Given the description of an element on the screen output the (x, y) to click on. 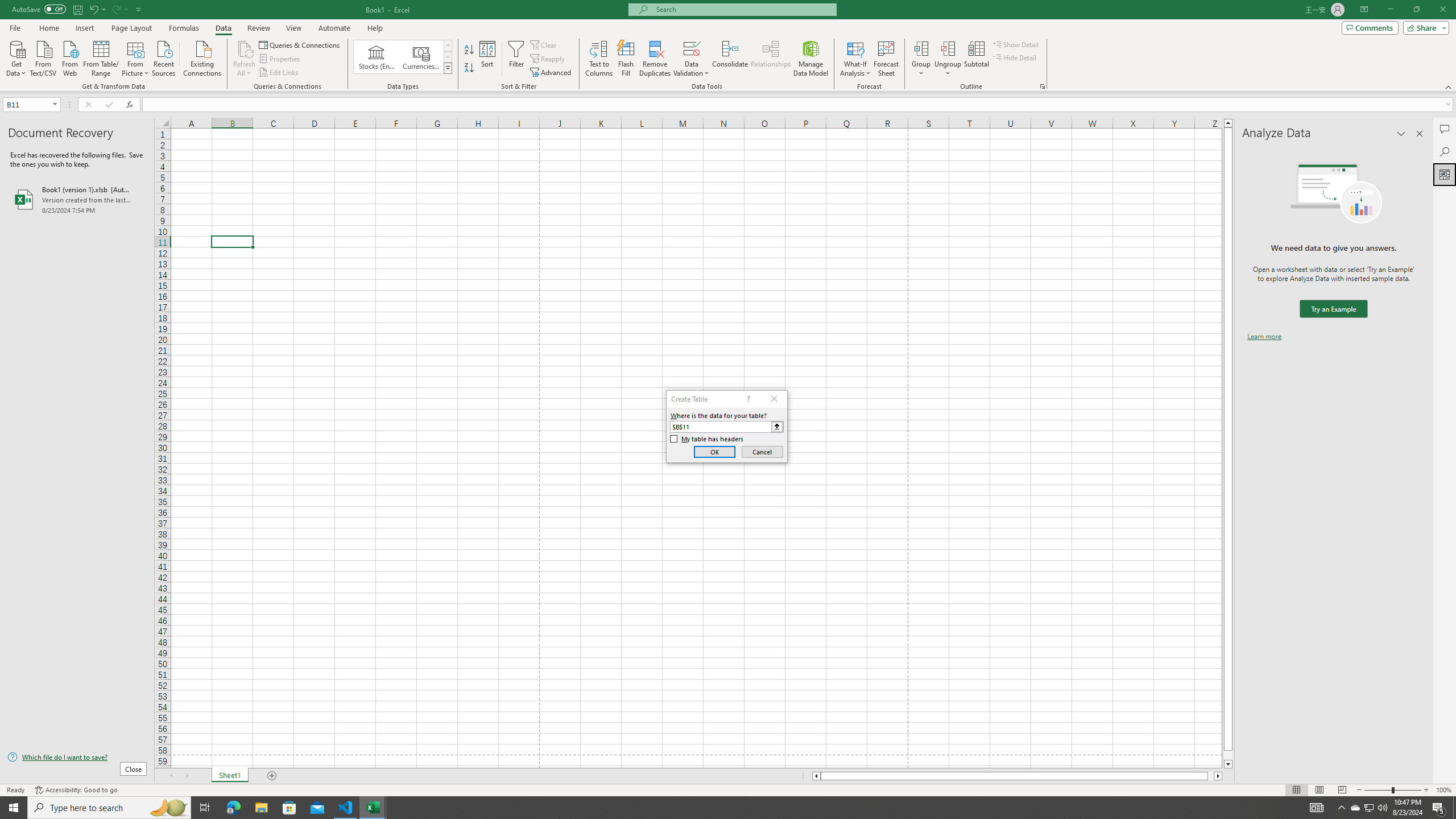
Consolidate... (729, 58)
